Given the description of an element on the screen output the (x, y) to click on. 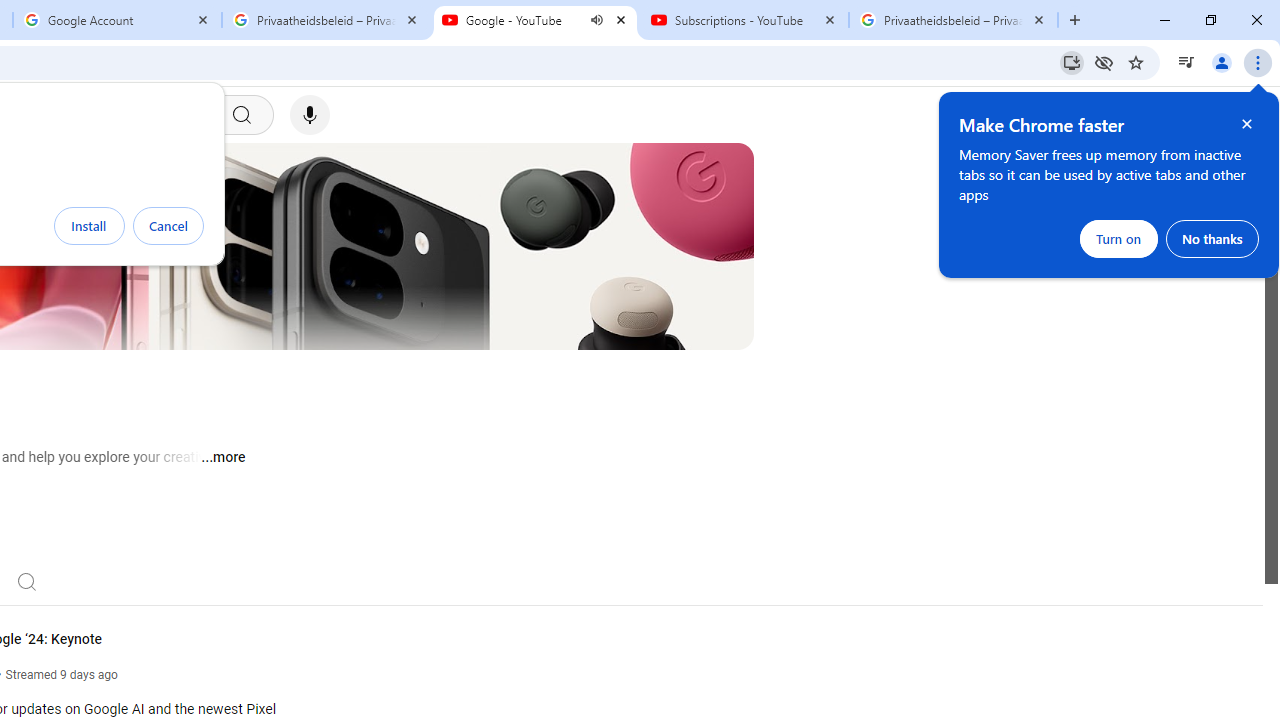
Close help bubble (1247, 124)
